Given the description of an element on the screen output the (x, y) to click on. 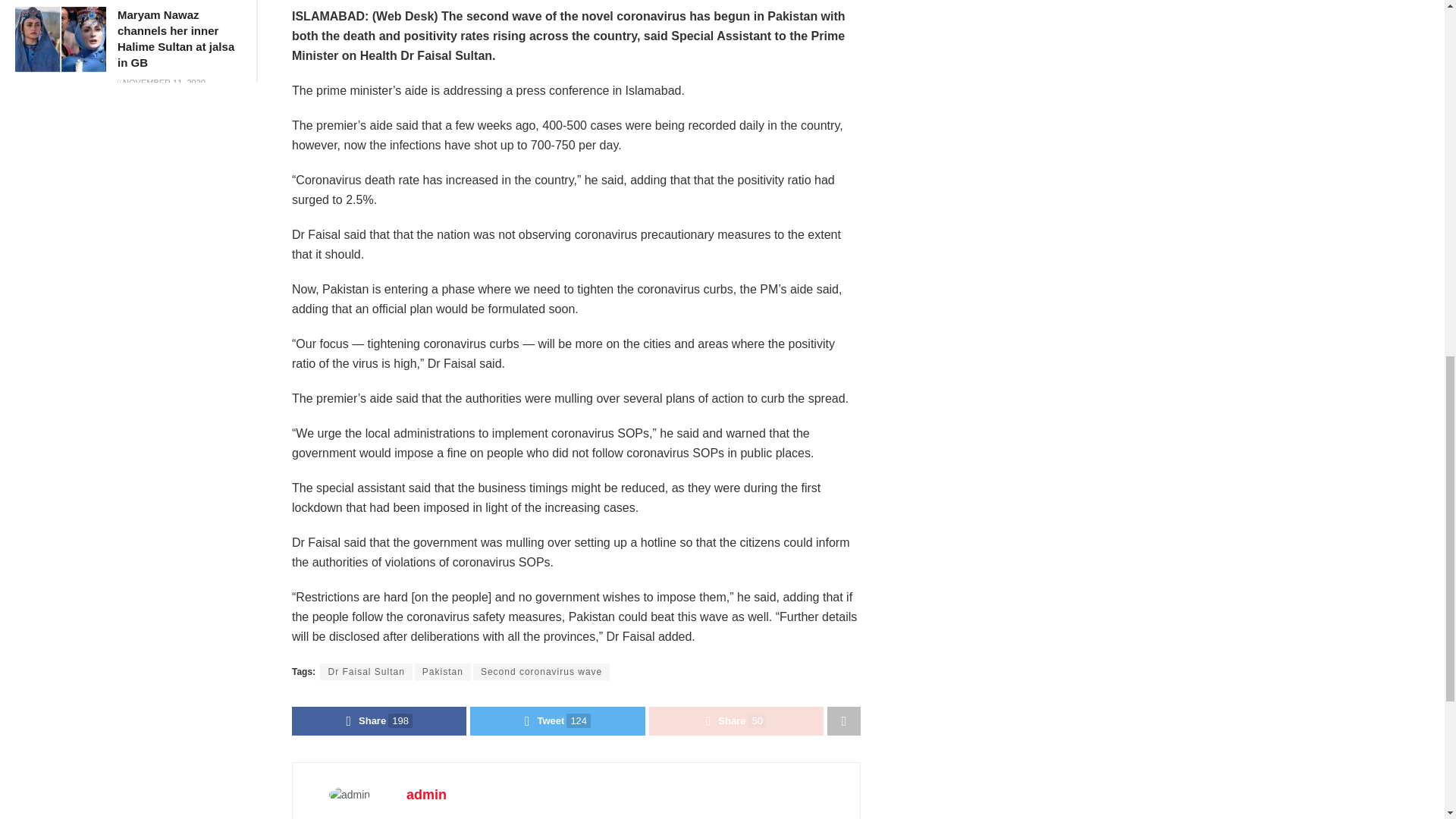
NOVEMBER 11, 2020 (161, 81)
Maryam Nawaz channels her inner Halime Sultan at jalsa in GB (175, 38)
